Given the description of an element on the screen output the (x, y) to click on. 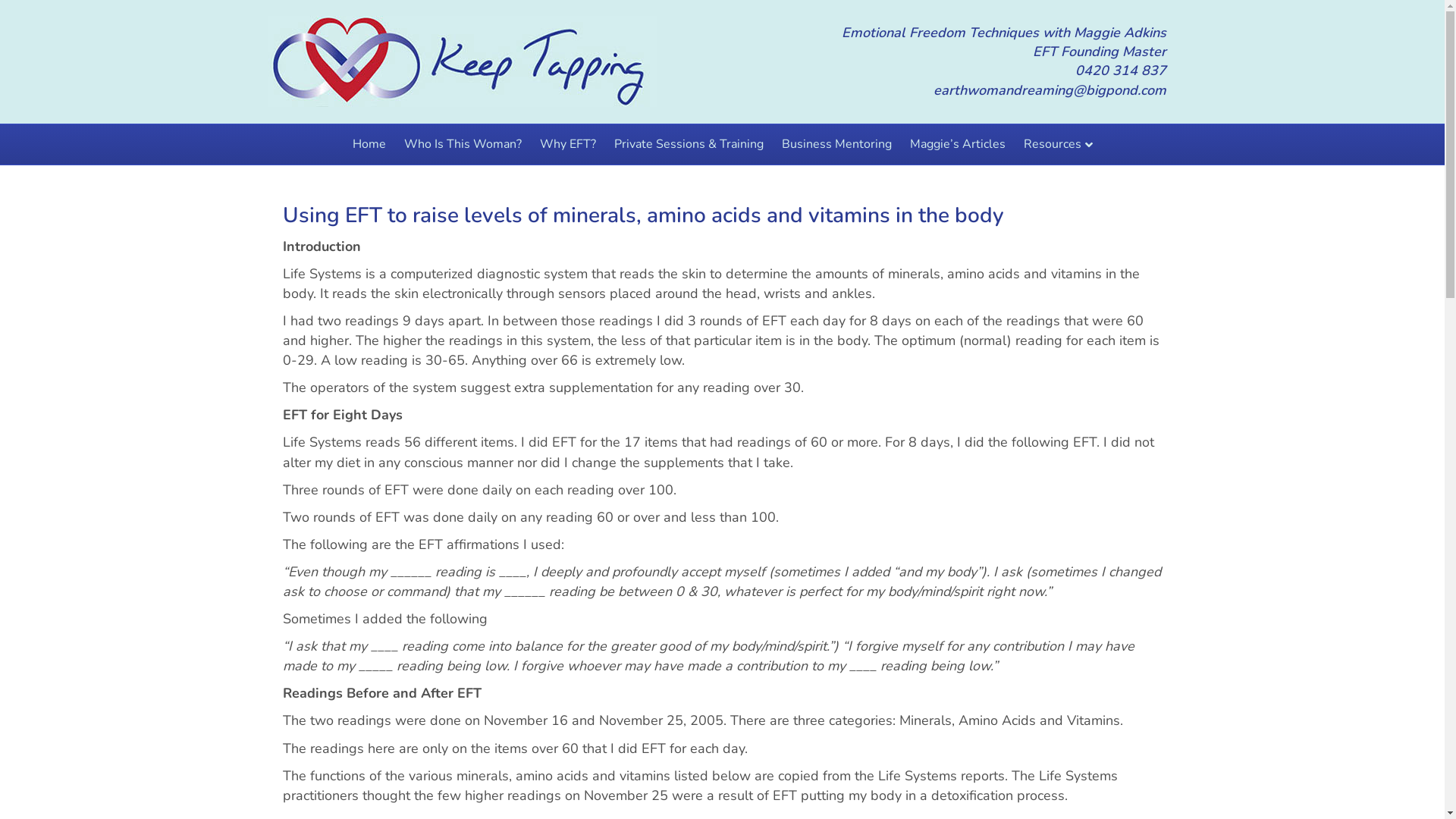
Business Mentoring Element type: text (835, 143)
Resources Element type: text (1058, 144)
Home Element type: text (368, 143)
Why EFT? Element type: text (567, 143)
Who Is This Woman? Element type: text (461, 143)
0420 314 837 Element type: text (1120, 70)
Private Sessions & Training Element type: text (688, 143)
